Given the description of an element on the screen output the (x, y) to click on. 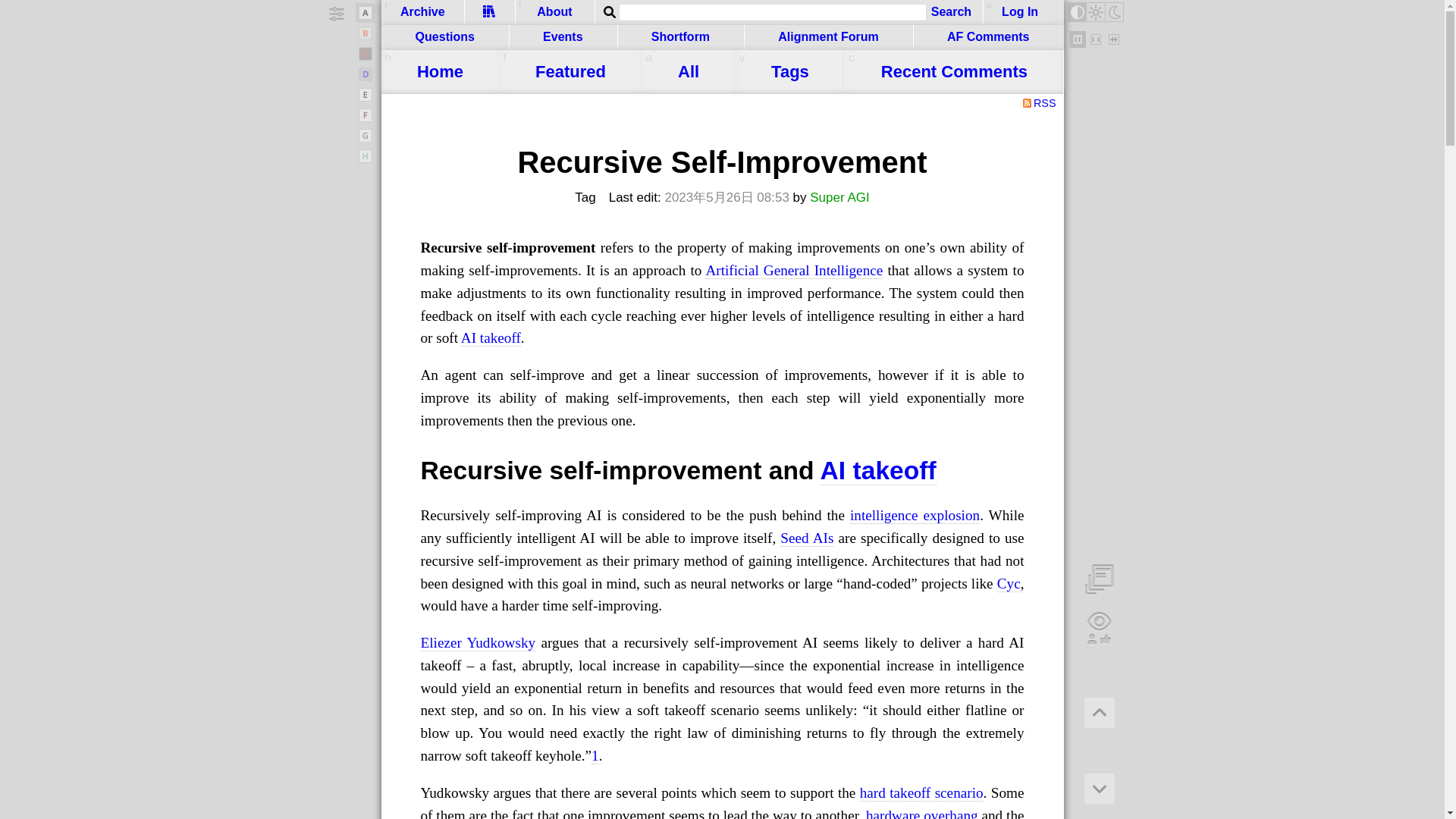
Cyc (1008, 582)
Latest Shortform posts (680, 37)
Latest featured posts (570, 71)
Sequences (489, 11)
Featured (570, 71)
RSS (1040, 103)
Log In (1020, 12)
AI takeoff (878, 470)
Tags (790, 71)
Shortform (680, 37)
